Given the description of an element on the screen output the (x, y) to click on. 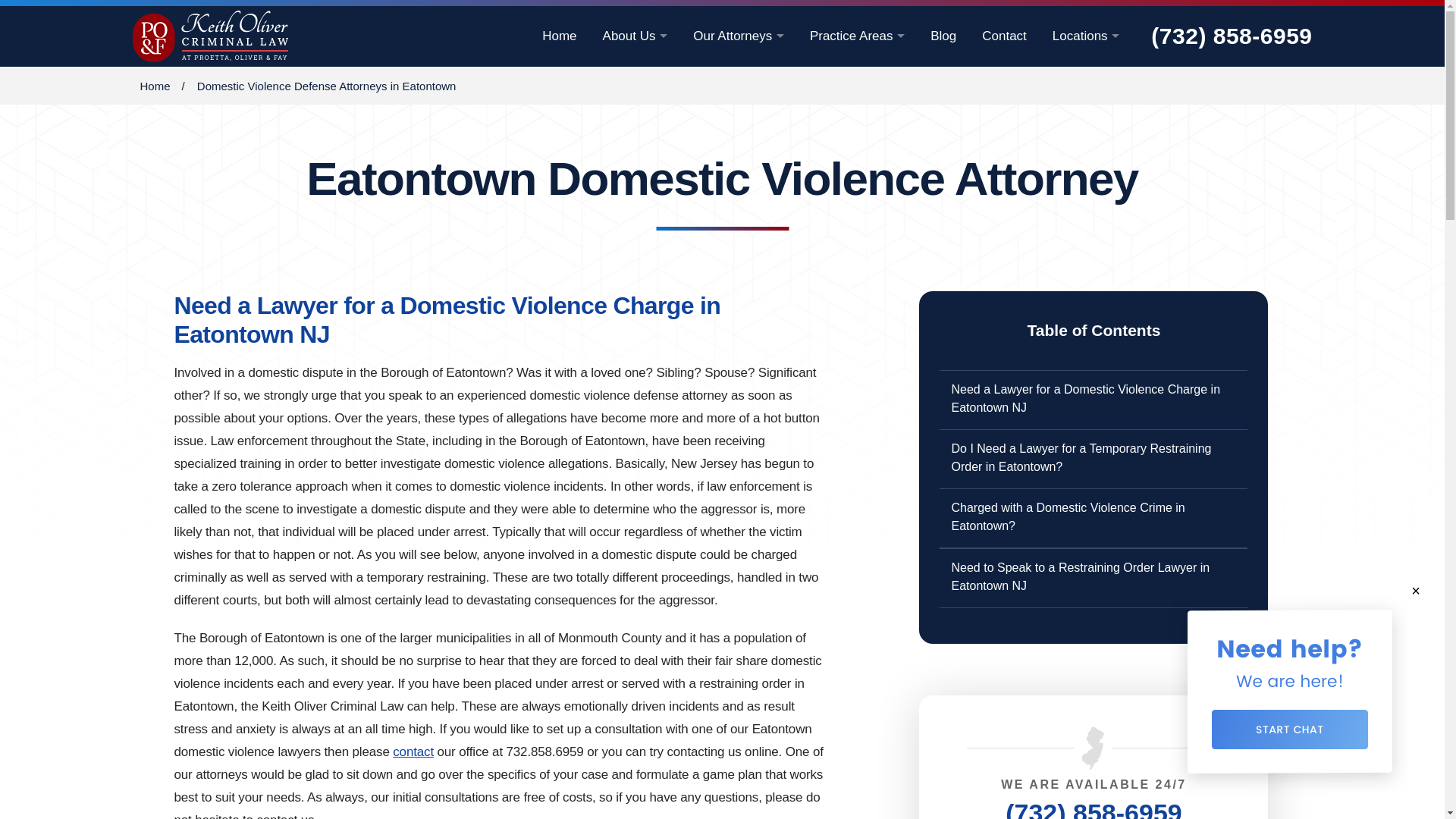
Home (558, 36)
Our Attorneys (738, 36)
Home (558, 36)
About Us (635, 36)
About Us (635, 36)
Practice Areas (856, 36)
Our Attorneys (738, 36)
Practice Areas (856, 36)
